Given the description of an element on the screen output the (x, y) to click on. 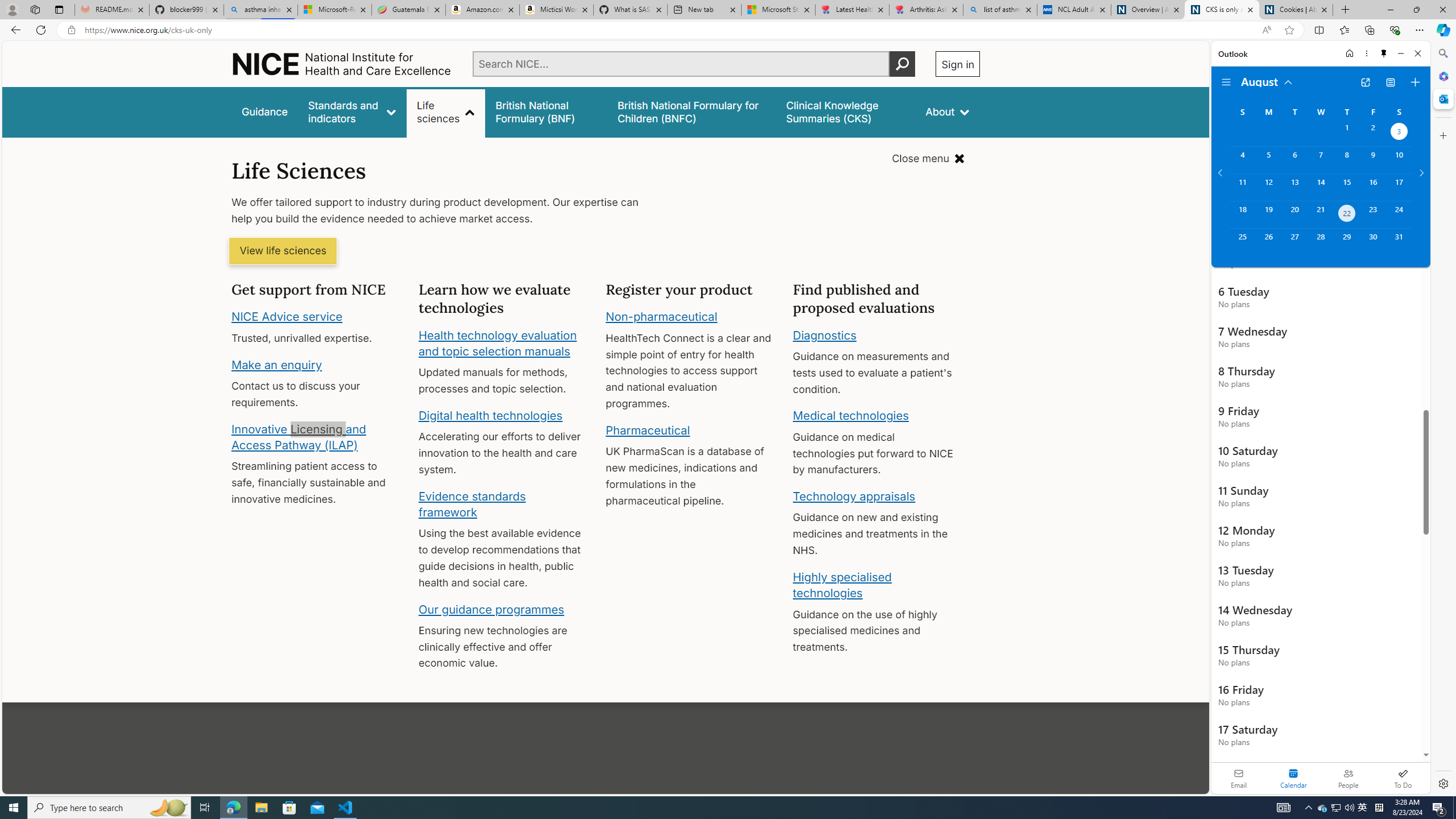
Medical technologies (850, 415)
Innovative Licensing and Access Pathway (ILAP) (298, 436)
Thursday, August 15, 2024.  (1346, 186)
Sunday, August 25, 2024.  (1242, 241)
Wednesday, August 21, 2024.  (1320, 214)
Saturday, August 24, 2024.  (1399, 214)
Our guidance programmes (490, 608)
